Given the description of an element on the screen output the (x, y) to click on. 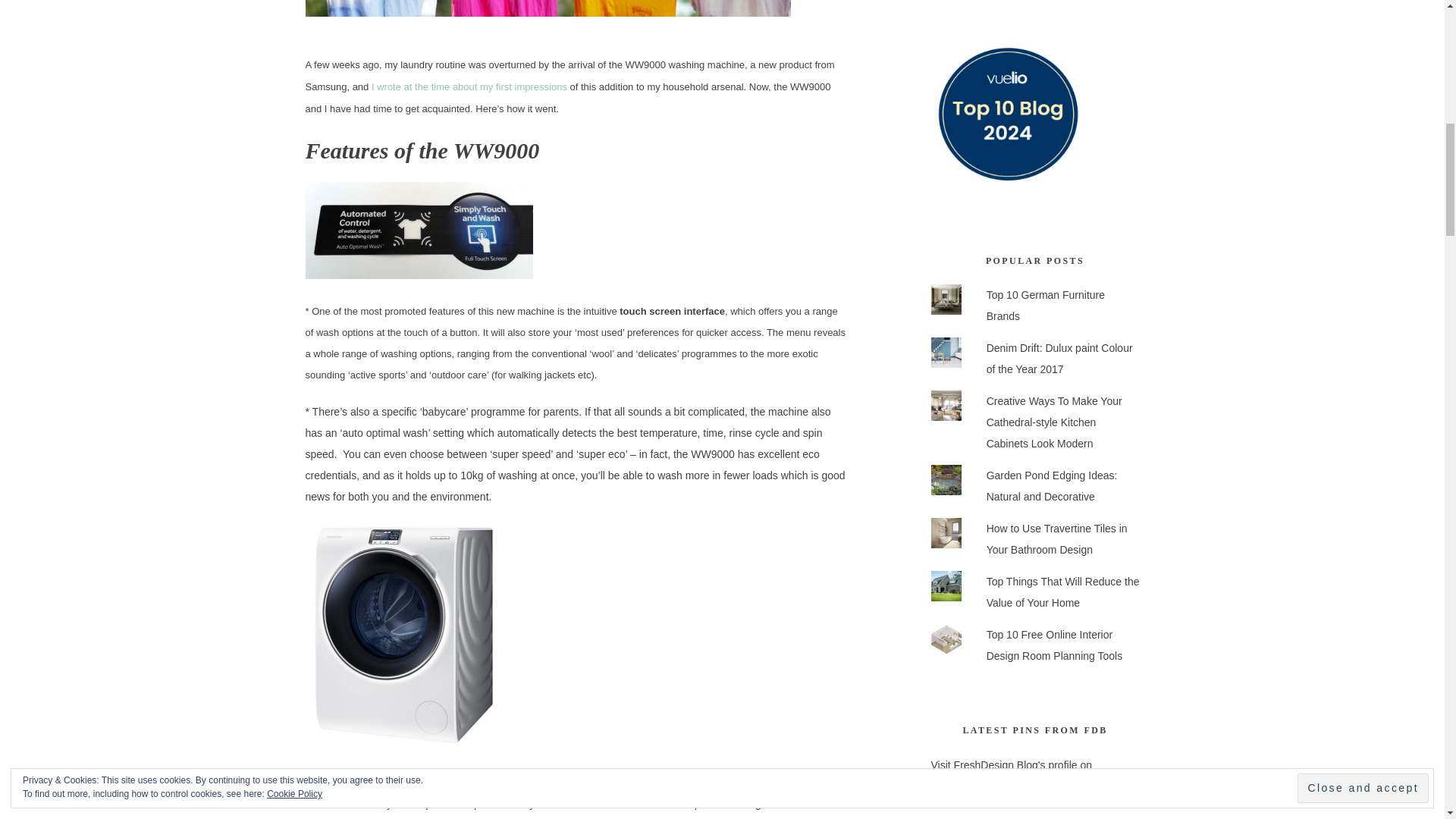
I wrote at the time about my first impressions (469, 86)
Top 10 German Furniture Brands (1046, 305)
